Given the description of an element on the screen output the (x, y) to click on. 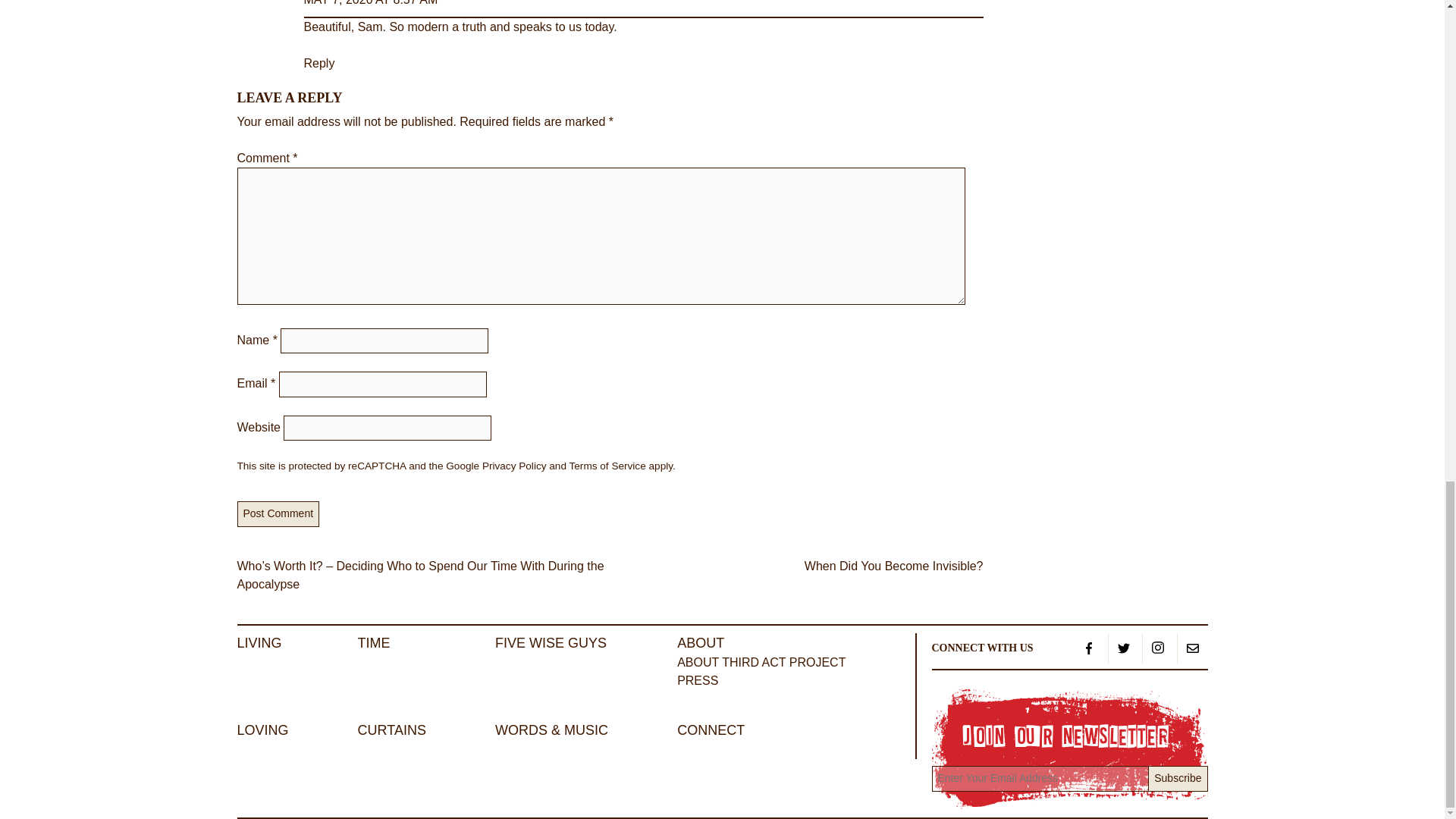
When Did You Become Invisible? (894, 565)
FIVE WISE GUYS (551, 642)
LOVING (261, 729)
MAY 7, 2020 AT 8:57 AM (370, 2)
Subscribe (1177, 778)
Terms of Service (607, 465)
LIVING (258, 642)
ABOUT (700, 642)
CURTAINS (392, 729)
Post Comment (276, 514)
TIME (374, 642)
Reply (318, 62)
Privacy Policy (514, 465)
Post Comment (276, 514)
